Given the description of an element on the screen output the (x, y) to click on. 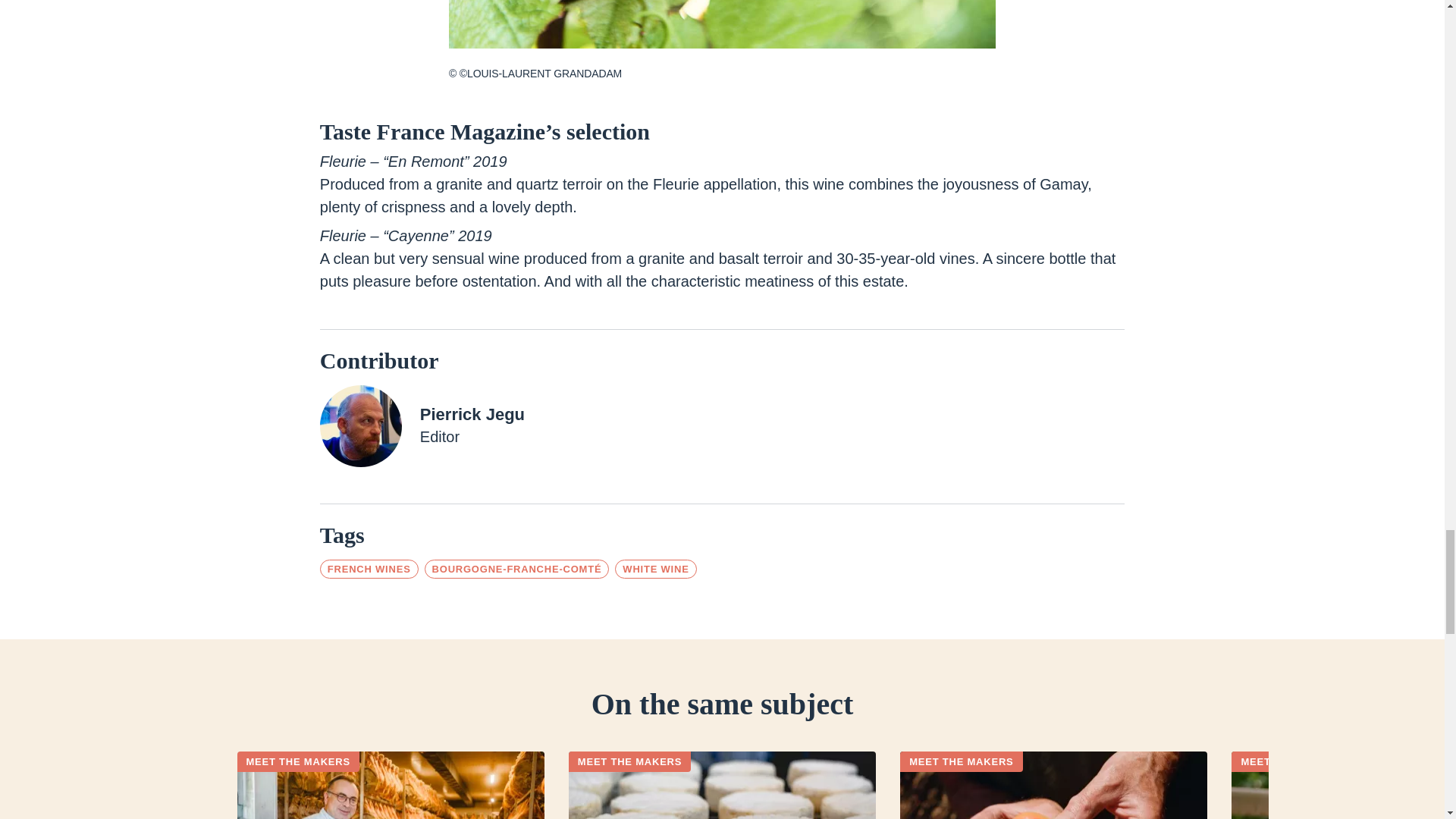
MEET THE MAKERS (1292, 761)
MEET THE MAKERS (629, 761)
MEET THE MAKERS (296, 761)
WHITE WINE (654, 568)
Pierrick Jegu (472, 415)
FRENCH WINES (369, 568)
MEET THE MAKERS (960, 761)
